Given the description of an element on the screen output the (x, y) to click on. 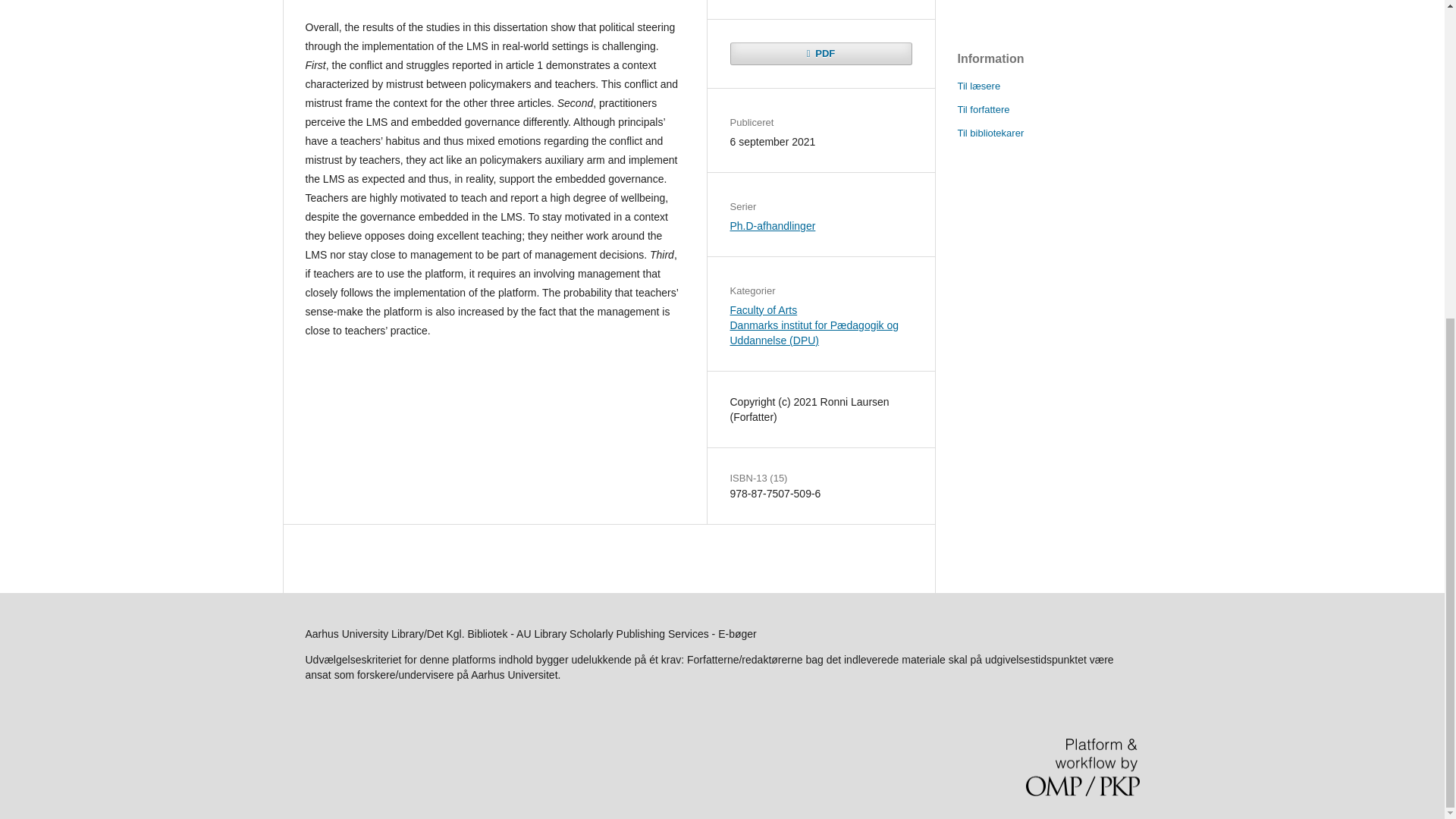
Til bibliotekarer (989, 132)
Ph.D-afhandlinger (772, 225)
Til forfattere (982, 109)
Faculty of Arts (762, 309)
PDF (820, 53)
